Given the description of an element on the screen output the (x, y) to click on. 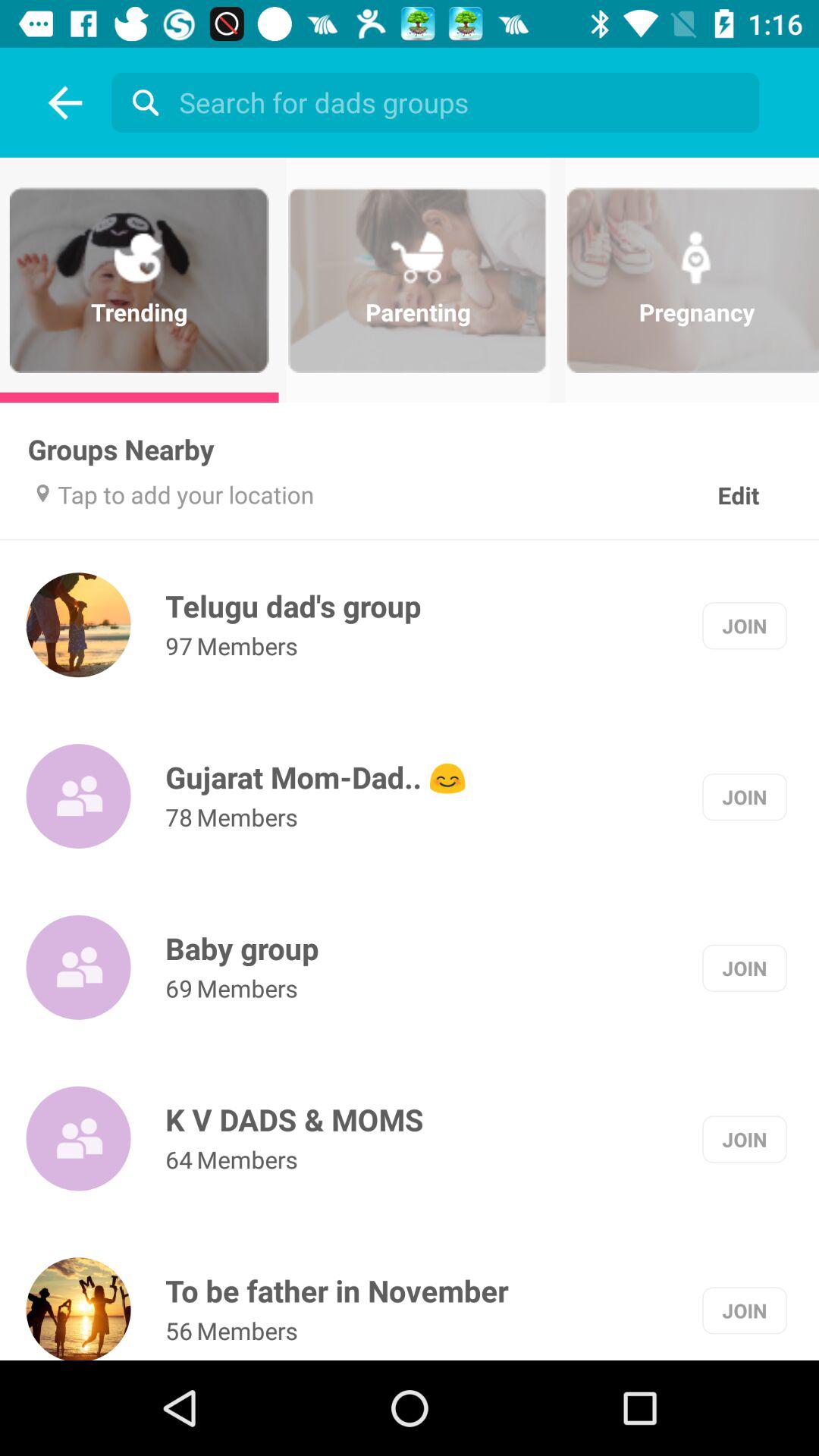
select the edit (738, 479)
